Given the description of an element on the screen output the (x, y) to click on. 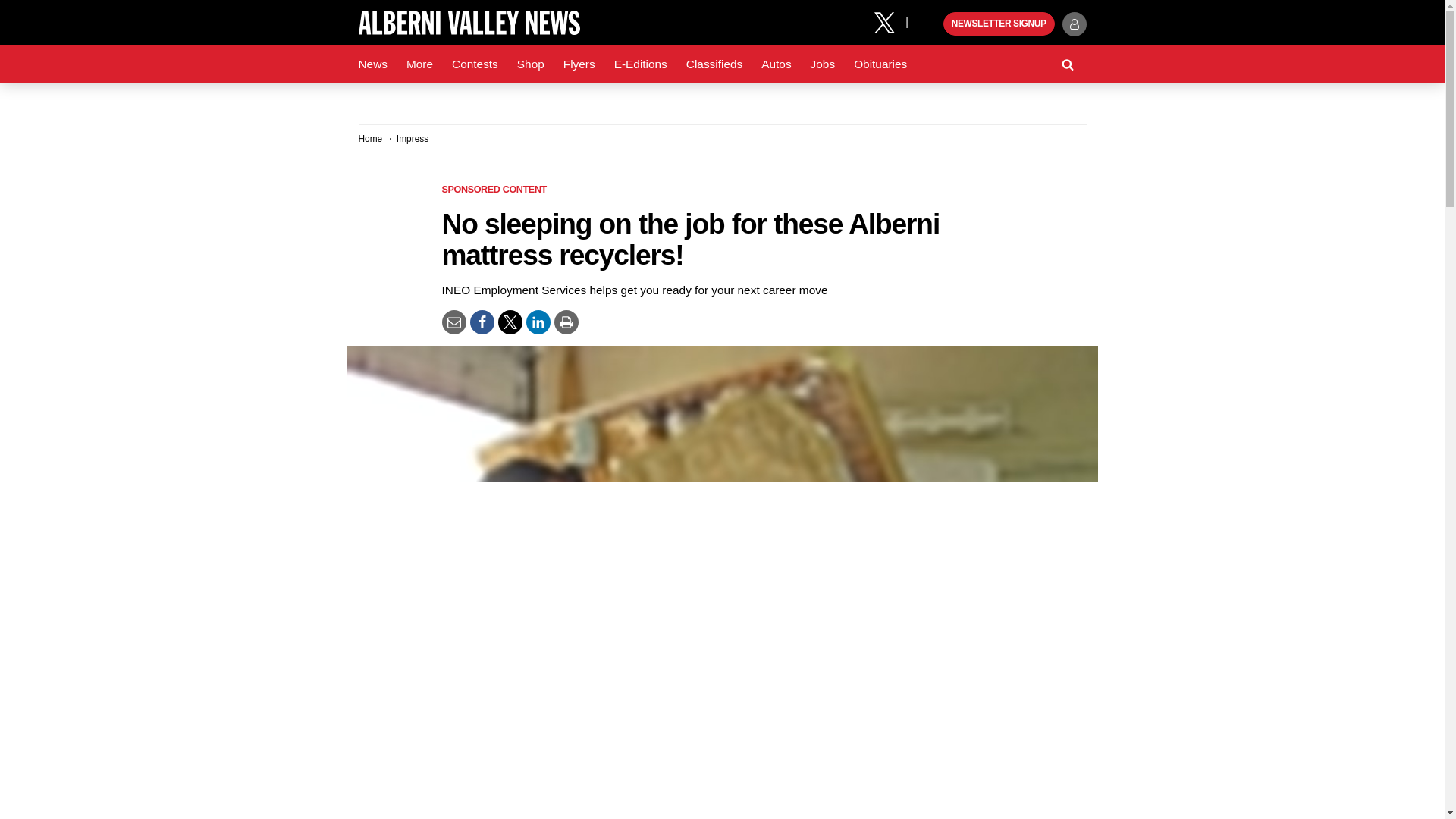
NEWSLETTER SIGNUP (998, 24)
Black Press Media (929, 24)
News (372, 64)
X (889, 21)
Play (929, 24)
